Given the description of an element on the screen output the (x, y) to click on. 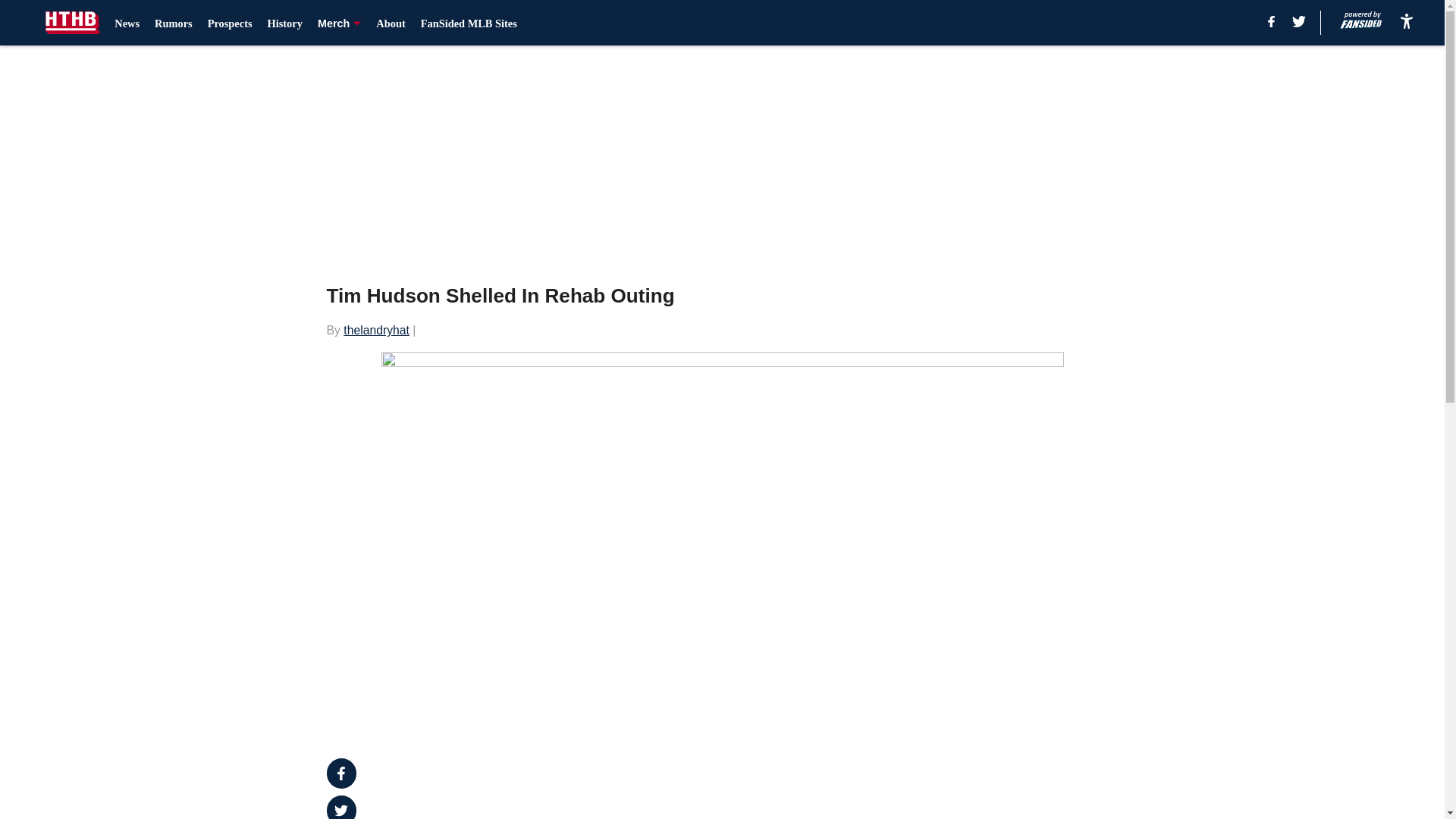
News (127, 23)
Prospects (229, 23)
About (389, 23)
FanSided MLB Sites (468, 23)
thelandryhat (376, 329)
History (284, 23)
Rumors (173, 23)
